Given the description of an element on the screen output the (x, y) to click on. 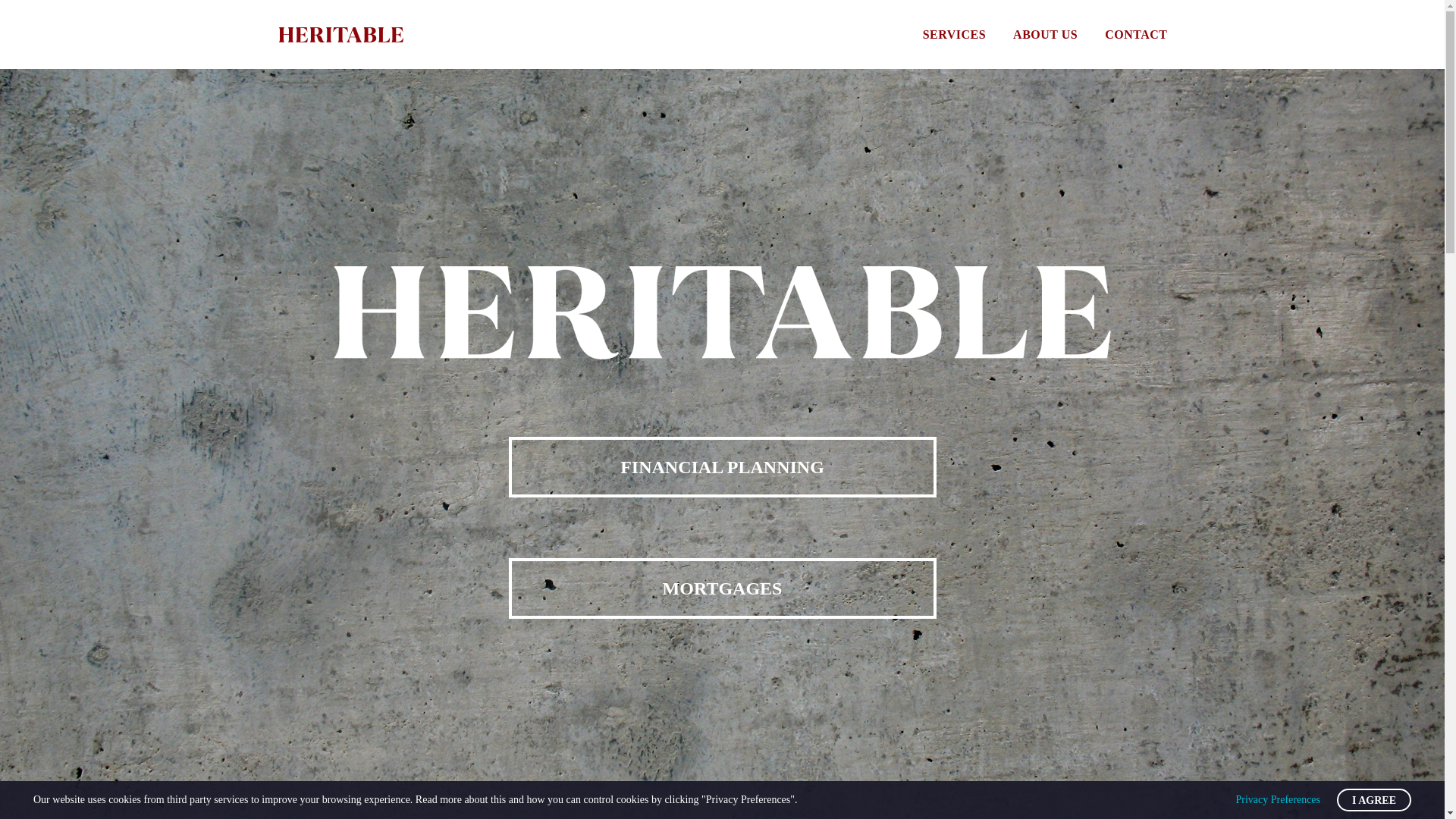
I AGREE (1373, 799)
Financial Planning (722, 466)
Privacy Preferences (1277, 799)
SERVICES (954, 34)
CONTACT (1135, 34)
MORTGAGES (722, 588)
FINANCIAL PLANNING (722, 466)
Mortgages (722, 588)
ABOUT US (1045, 34)
